Given the description of an element on the screen output the (x, y) to click on. 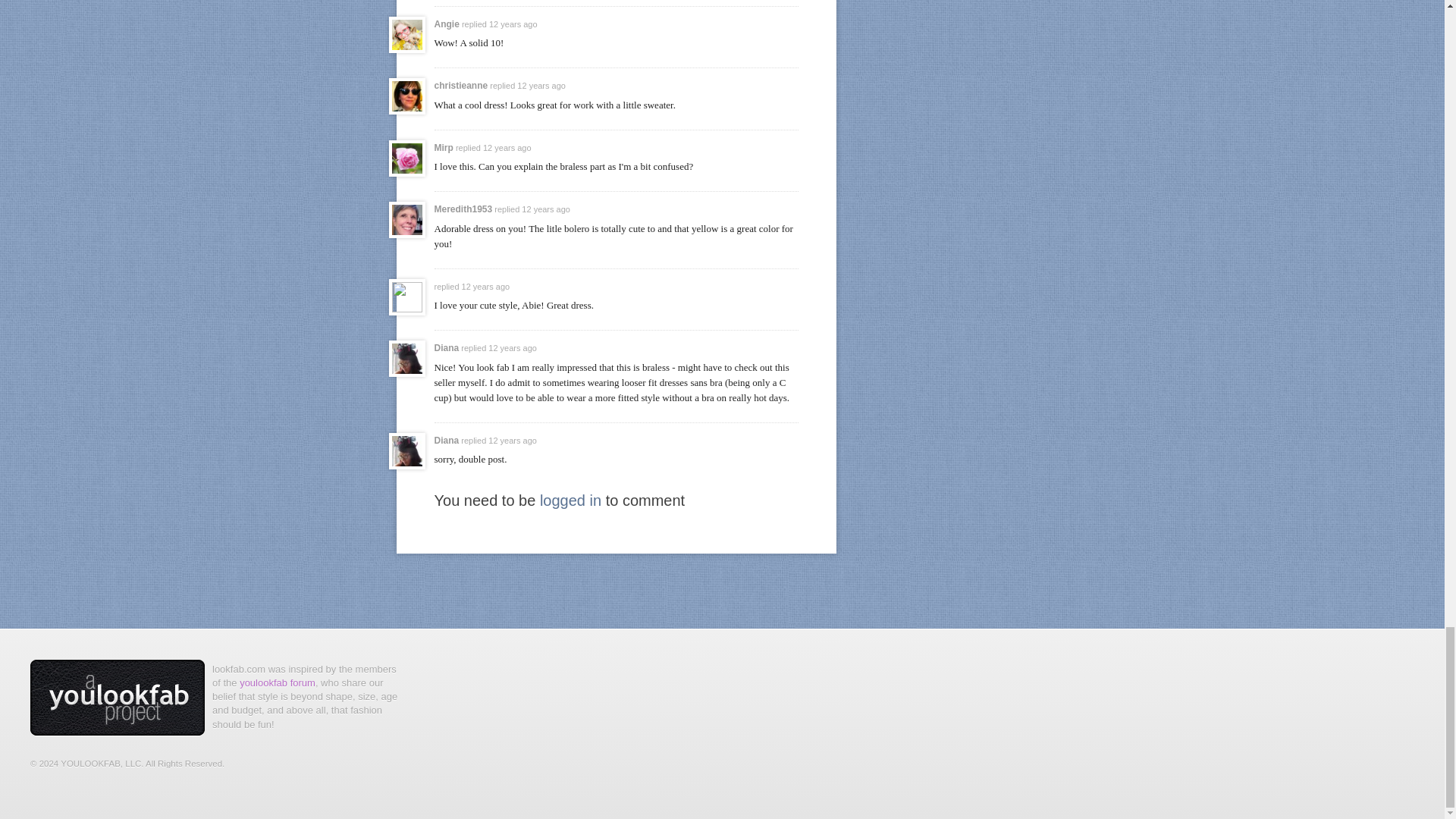
logged in (570, 500)
youlookfab forum (277, 682)
